Given the description of an element on the screen output the (x, y) to click on. 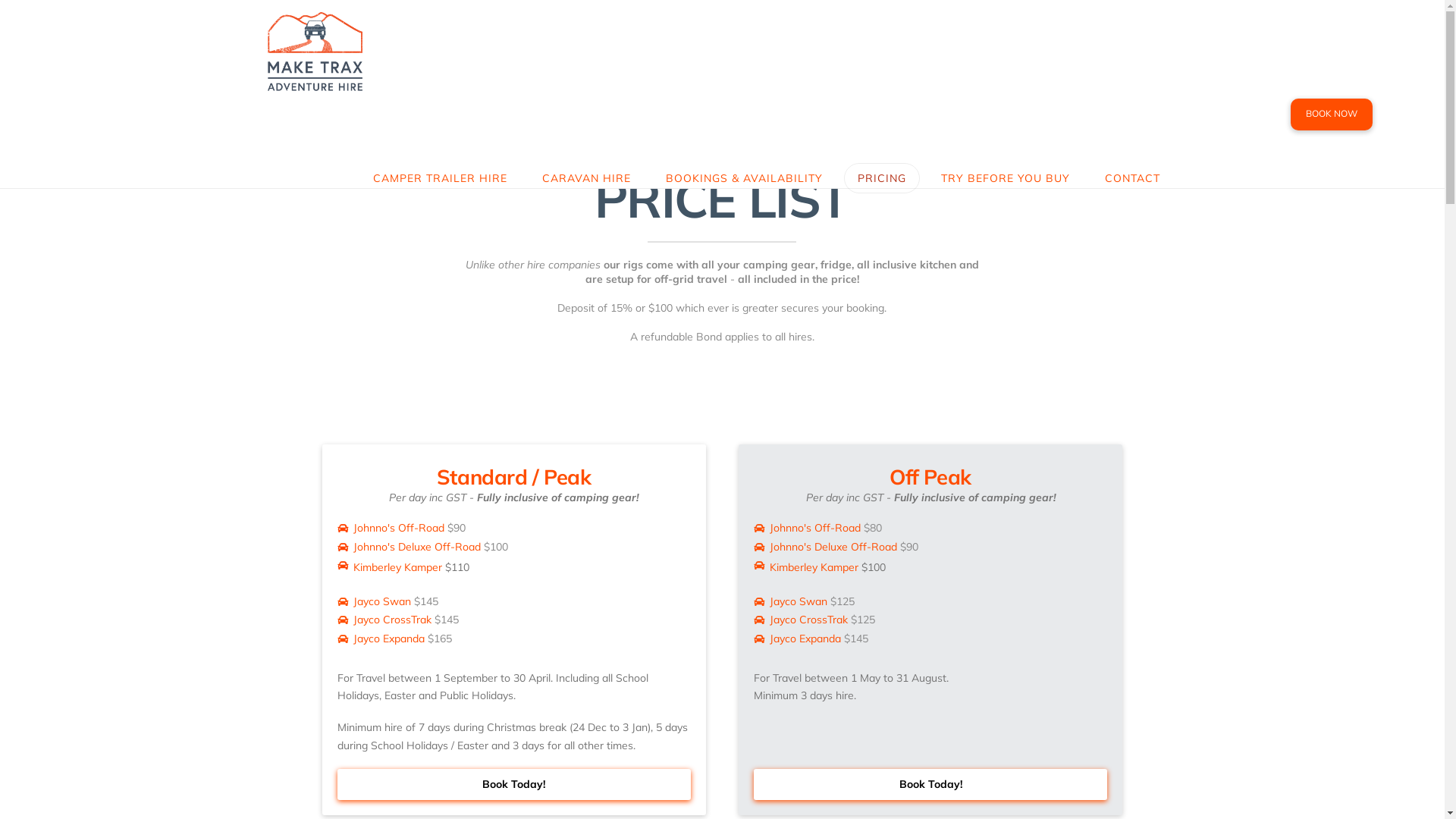
CAMPER TRAILER HIRE Element type: text (439, 131)
TRY BEFORE YOU BUY Element type: text (1005, 131)
Book Today! Element type: text (513, 783)
Jayco CrossTrak Element type: text (808, 619)
Book Today! Element type: text (930, 783)
Johnno's Off-Road Element type: text (398, 527)
BOOK NOW Element type: text (1331, 114)
Jayco Expanda Element type: text (388, 638)
Johnno's Deluxe Off-Road Element type: text (416, 546)
CARAVAN HIRE Element type: text (586, 131)
CONTACT Element type: text (1132, 131)
Jayco CrossTrak Element type: text (392, 619)
Johnno's Off-Road Element type: text (814, 527)
Kimberley Kamper Element type: text (397, 567)
PRICING Element type: text (881, 131)
BOOKINGS & AVAILABILITY Element type: text (744, 131)
Johnno's Deluxe Off-Road Element type: text (833, 546)
Jayco Expanda Element type: text (804, 638)
Jayco Swan Element type: text (382, 601)
Kimberley Kamper Element type: text (813, 567)
Jayco Swan Element type: text (798, 601)
